Given the description of an element on the screen output the (x, y) to click on. 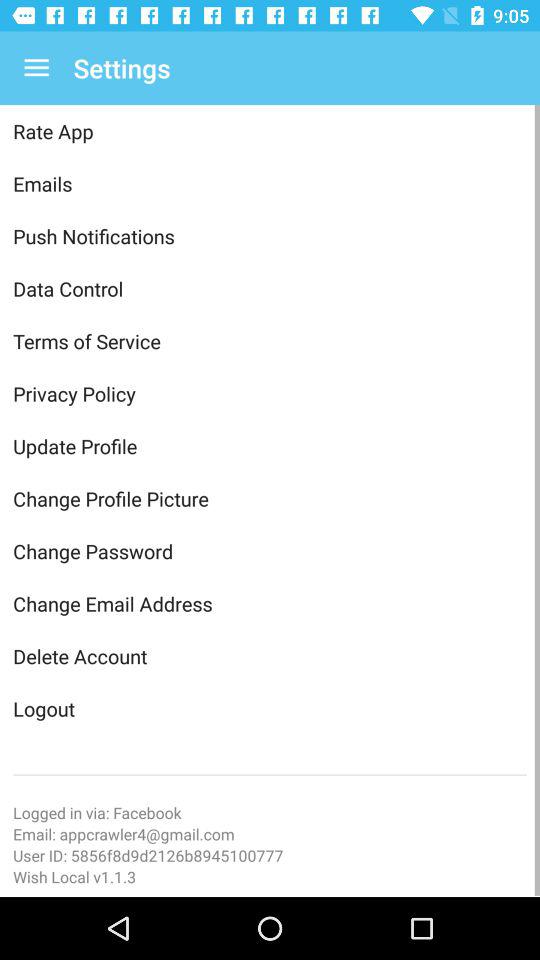
flip to the logout item (269, 708)
